Given the description of an element on the screen output the (x, y) to click on. 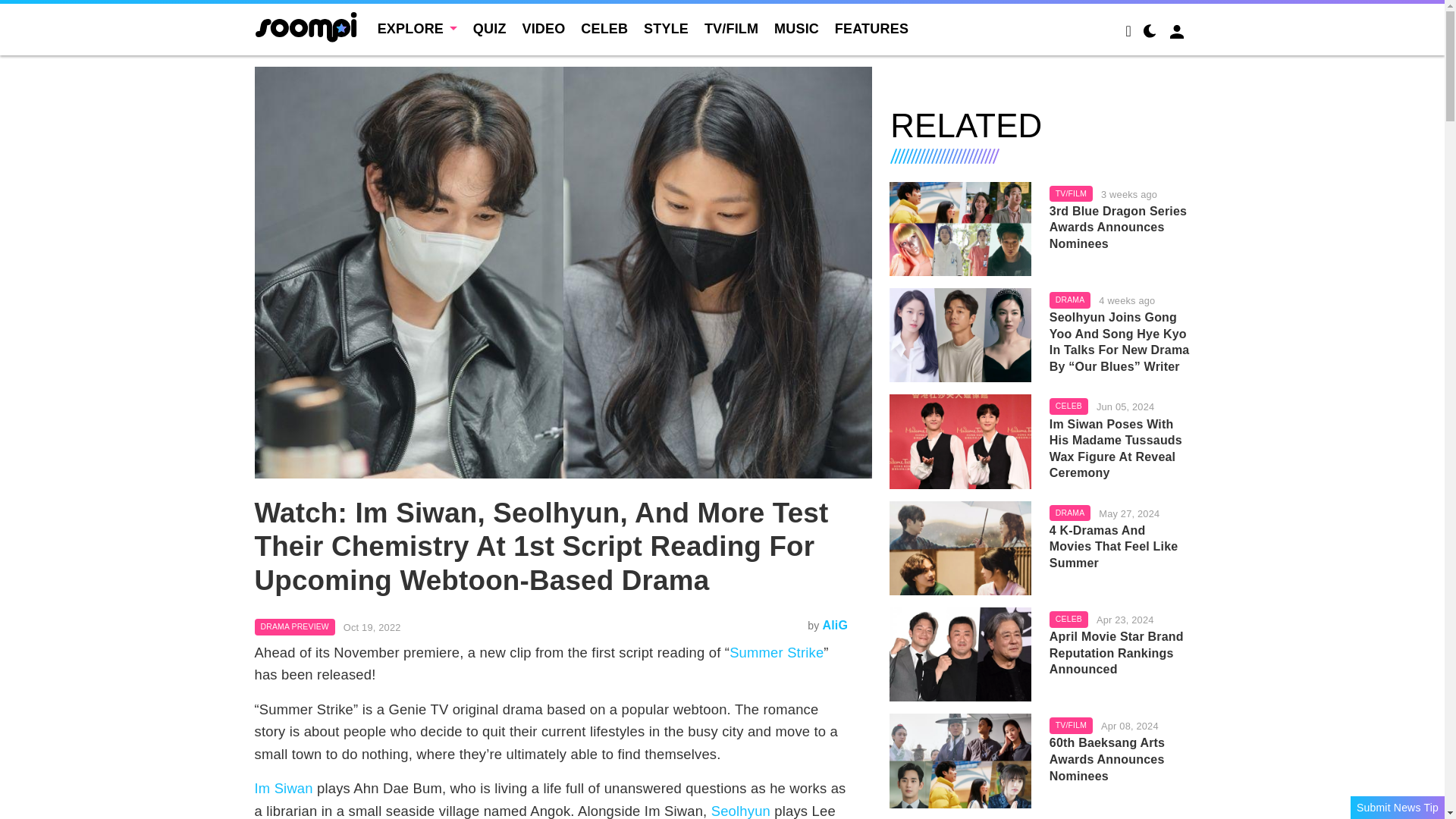
3rd Blue Dragon Series Awards Announces Nominees (959, 228)
STYLE (665, 28)
DRAMA PREVIEW (294, 627)
CELEB (603, 28)
Drama Preview (294, 627)
Night Mode Toggle (1149, 33)
FEATURES (871, 28)
3rd Blue Dragon Series Awards Announces Nominees (1120, 227)
Articles by AliG (834, 625)
QUIZ (489, 28)
VIDEO (542, 28)
Seolhyun (740, 811)
MUSIC (796, 28)
Im Siwan (283, 788)
Summer Strike (776, 652)
